Given the description of an element on the screen output the (x, y) to click on. 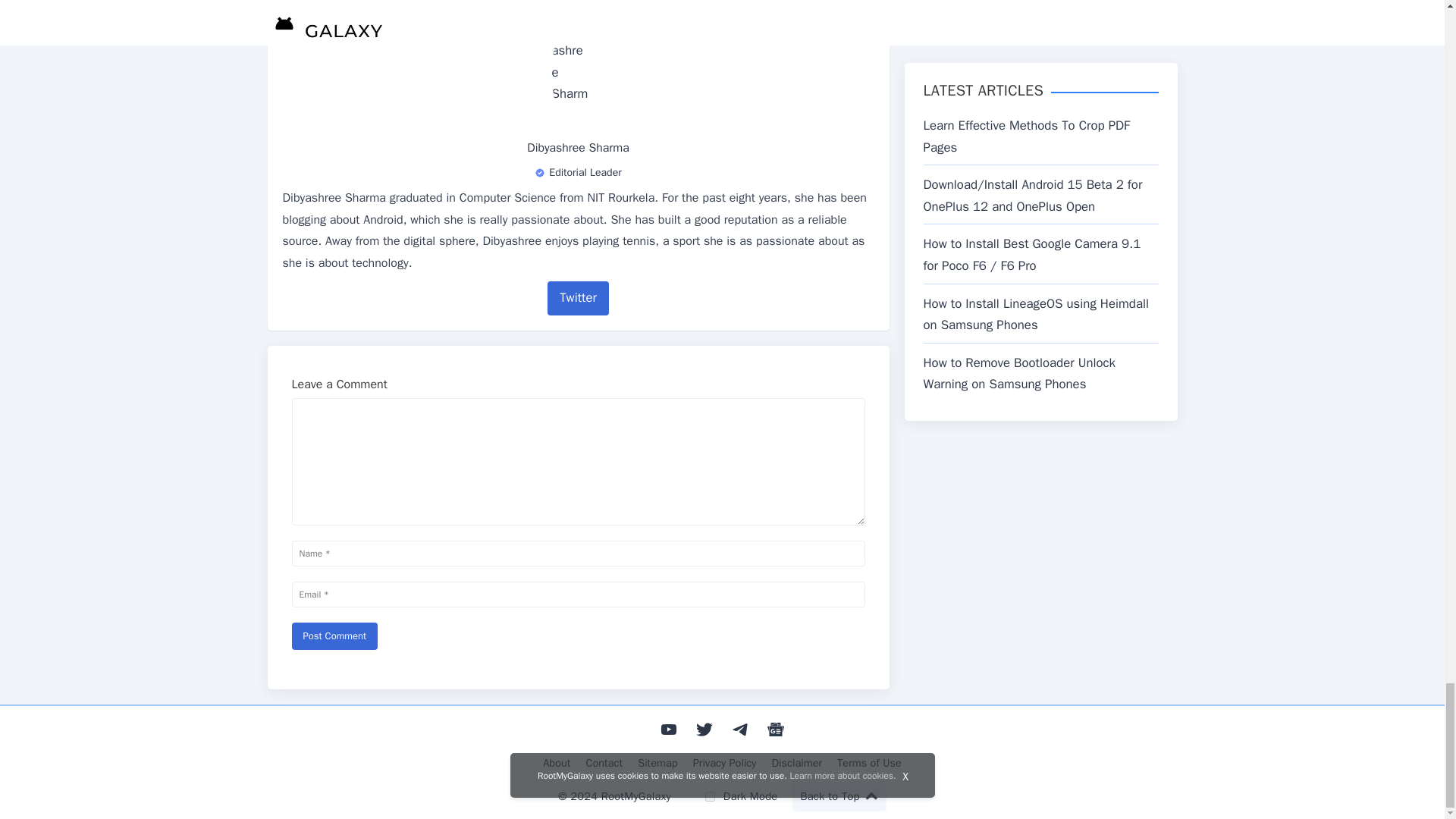
Post Comment (334, 636)
on (709, 796)
